Given the description of an element on the screen output the (x, y) to click on. 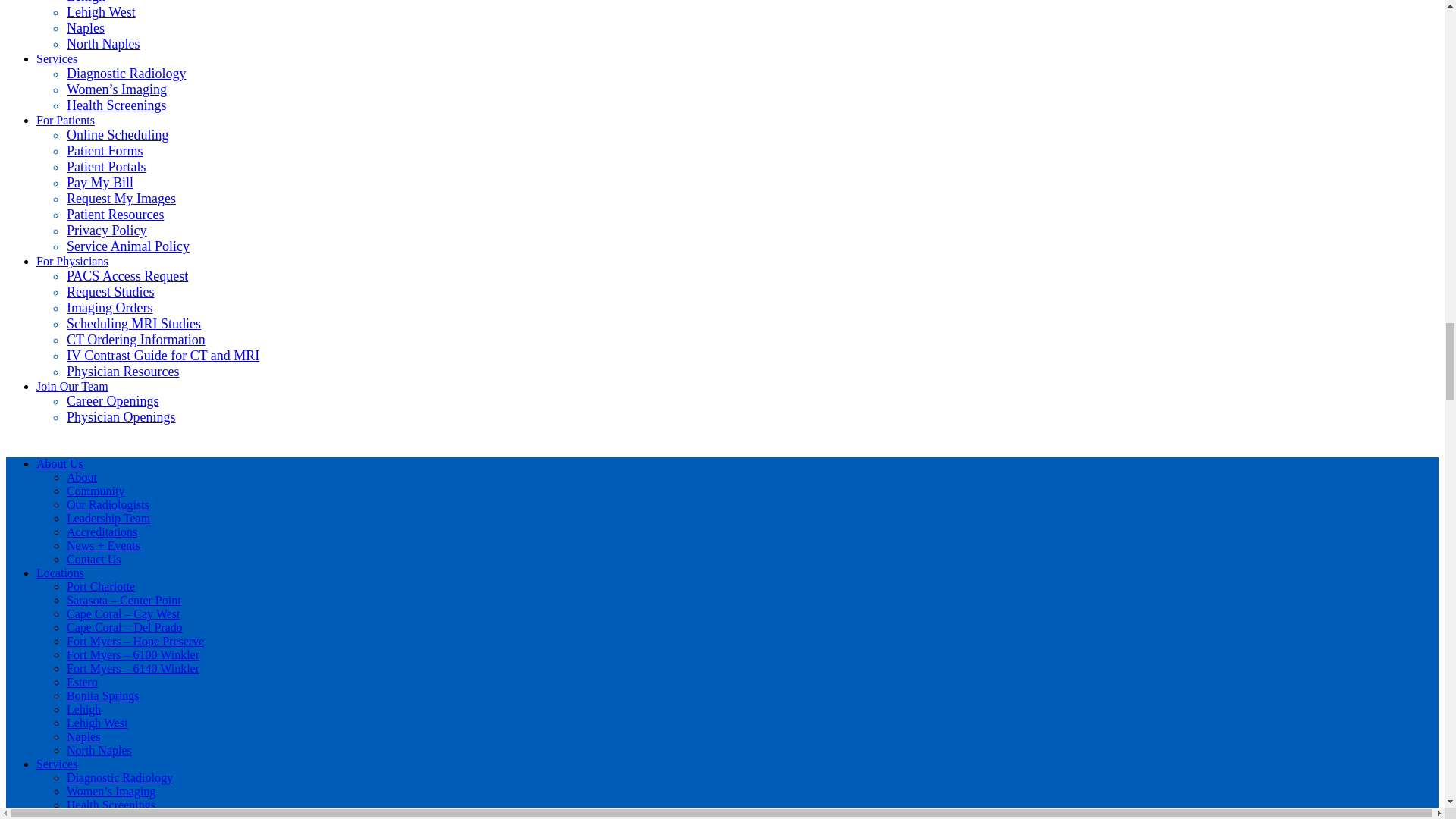
Patient Forms (104, 150)
Health Screenings (115, 105)
Online Scheduling (117, 134)
Services (56, 58)
North Naples (102, 43)
Patient Portals (106, 166)
Request My Images (121, 198)
Lehigh West (100, 11)
Diagnostic Radiology (126, 73)
Pay My Bill (99, 182)
Naples (85, 28)
Lehigh (85, 2)
For Patients (65, 119)
Patient Resources (114, 214)
